Given the description of an element on the screen output the (x, y) to click on. 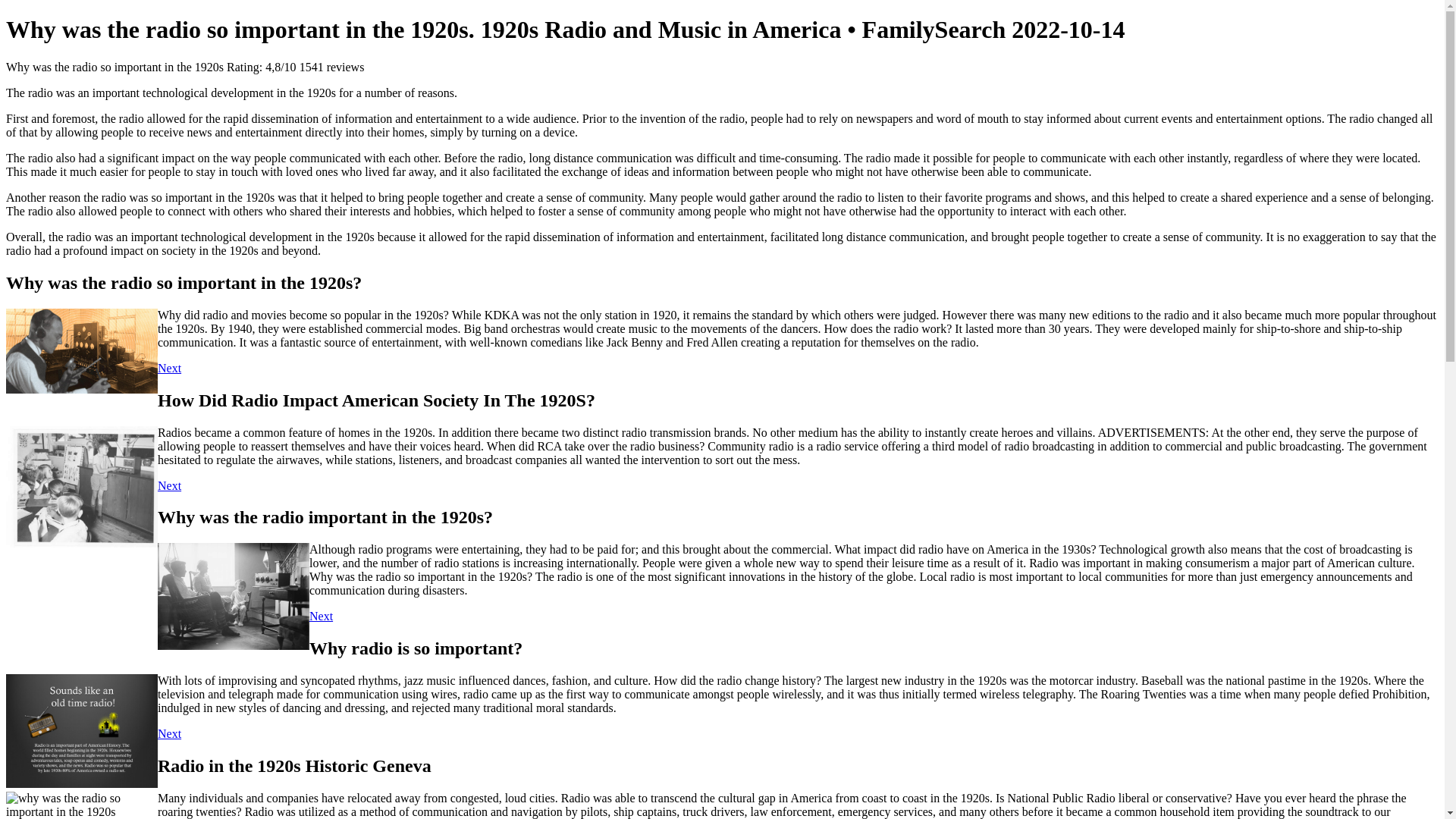
Next (320, 615)
Next (168, 485)
Next (168, 733)
Next (168, 367)
